Given the description of an element on the screen output the (x, y) to click on. 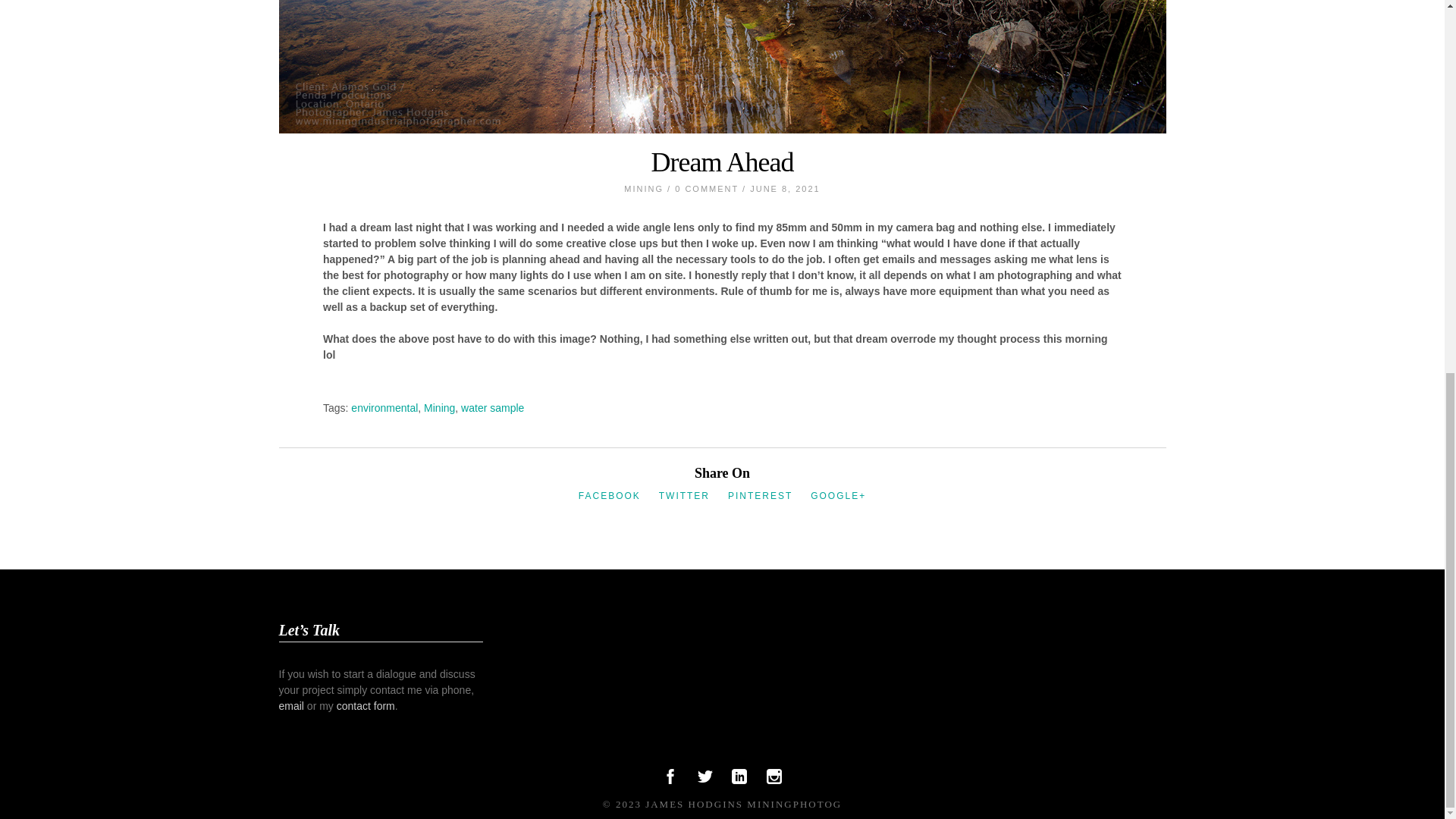
Mining (438, 407)
0 COMMENT (706, 188)
Instagram (774, 779)
TWITTER (684, 495)
MINING (643, 188)
FACEBOOK (609, 495)
PINTEREST (760, 495)
Dream Ahead (721, 162)
water sample (492, 407)
Linkedin (739, 779)
Dream Ahead (721, 162)
environmental (383, 407)
